Given the description of an element on the screen output the (x, y) to click on. 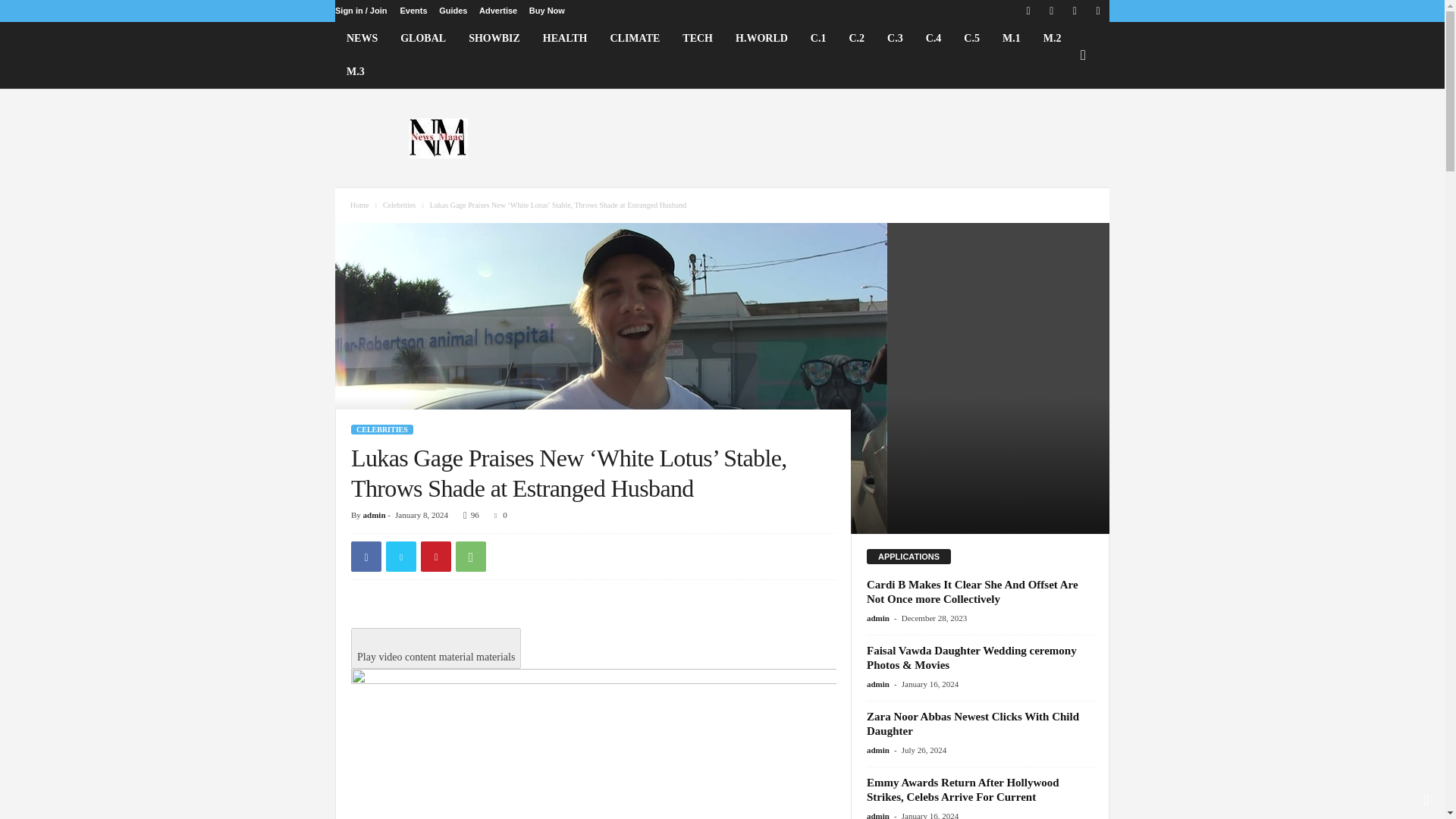
GLOBAL (422, 38)
Guides (453, 10)
SHOWBIZ (494, 38)
View all posts in Celebrities (398, 204)
Buy Now (546, 10)
HEALTH (564, 38)
Events (412, 10)
Advertise (497, 10)
News the Global  (438, 137)
CLIMATE (634, 38)
NEWS (361, 38)
